Given the description of an element on the screen output the (x, y) to click on. 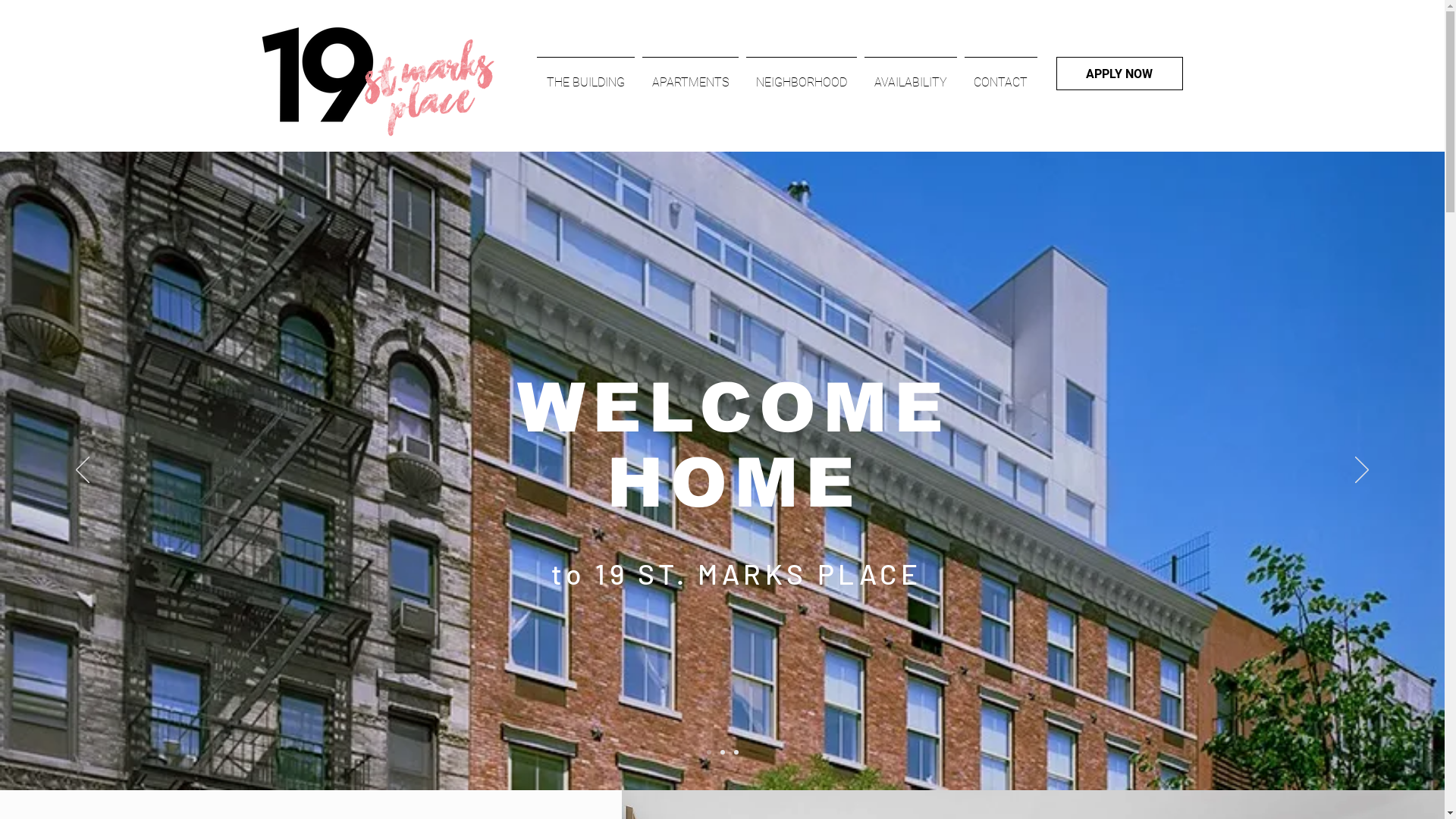
APARTMENTS Element type: text (690, 75)
NEIGHBORHOOD Element type: text (800, 75)
THE BUILDING Element type: text (584, 75)
CONTACT Element type: text (1000, 75)
APPLY NOW Element type: text (1118, 73)
AVAILABILITY Element type: text (909, 75)
